Given the description of an element on the screen output the (x, y) to click on. 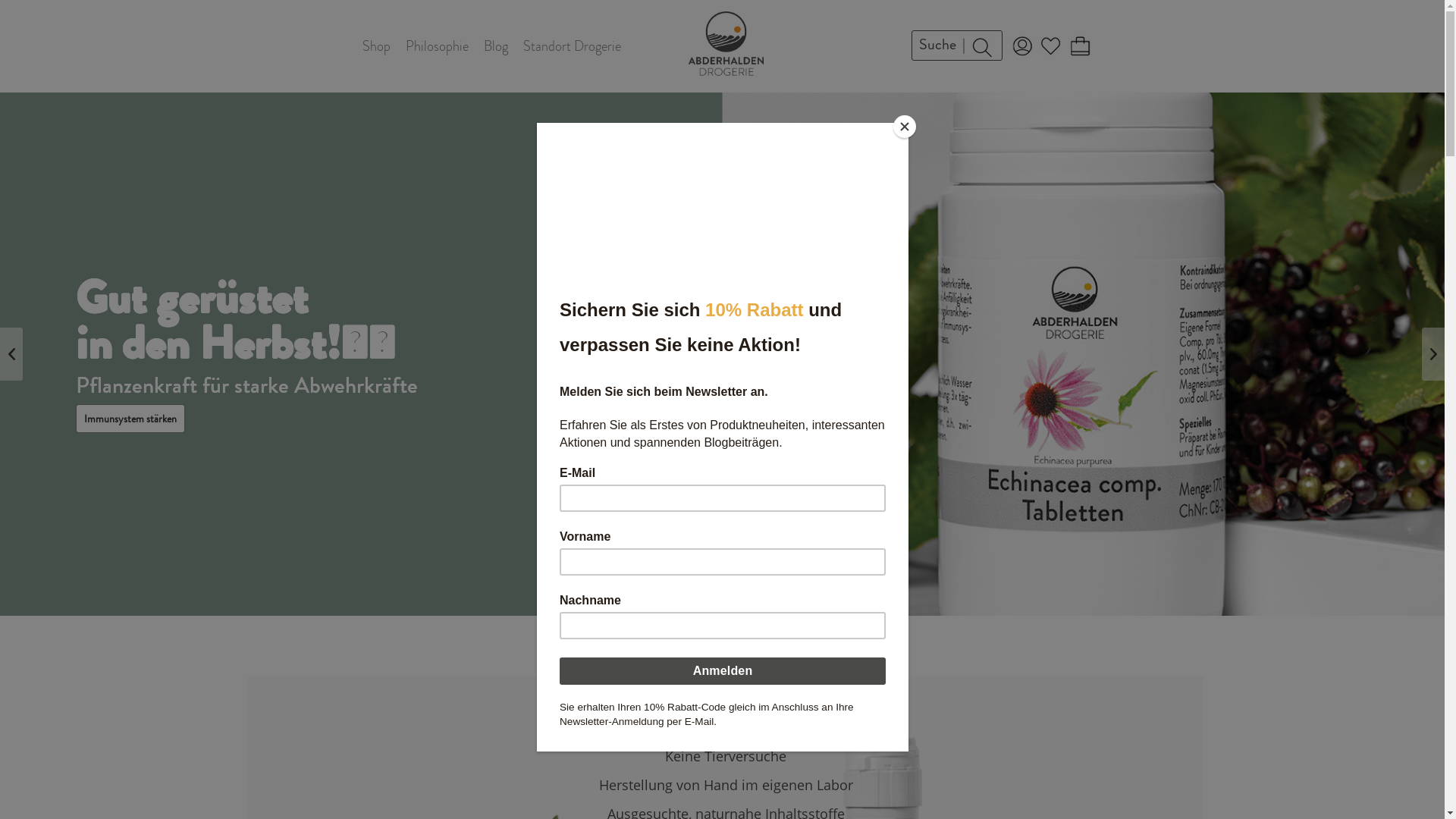
Warenkorb Element type: hover (1078, 45)
Blog Element type: text (495, 46)
Shop Element type: text (376, 46)
Abderhalden Drogerie AG - zur Startseite wechseln Element type: hover (725, 43)
Repair Balsam Stick Element type: text (125, 395)
Suche  |   Element type: text (956, 45)
Mein Konto Element type: hover (1021, 45)
Standort Drogerie Element type: text (571, 46)
Philosophie Element type: text (436, 46)
Merkzettel Element type: hover (1049, 45)
